Given the description of an element on the screen output the (x, y) to click on. 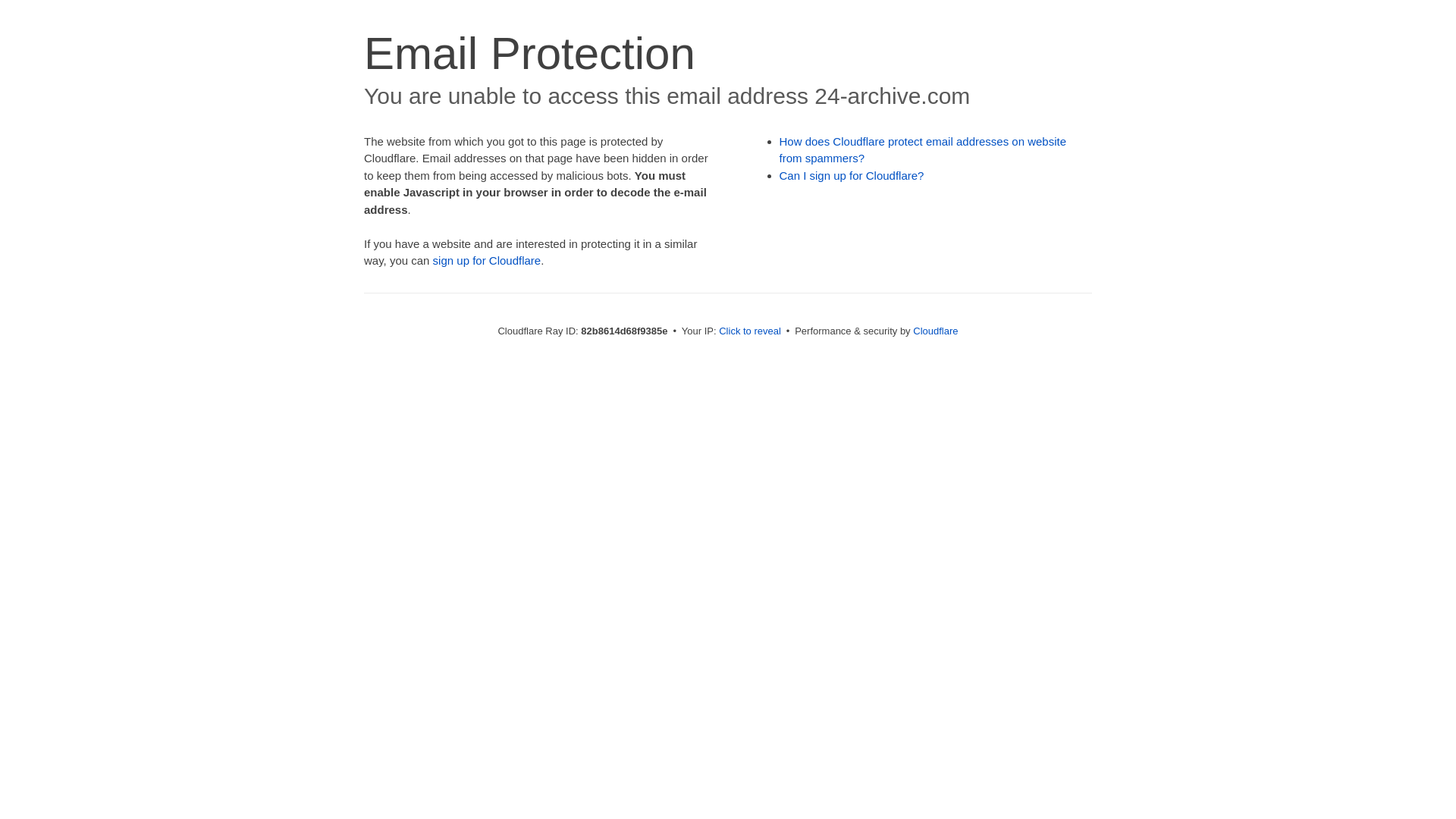
sign up for Cloudflare Element type: text (487, 260)
Cloudflare Element type: text (935, 330)
Click to reveal Element type: text (749, 330)
Can I sign up for Cloudflare? Element type: text (851, 175)
